Given the description of an element on the screen output the (x, y) to click on. 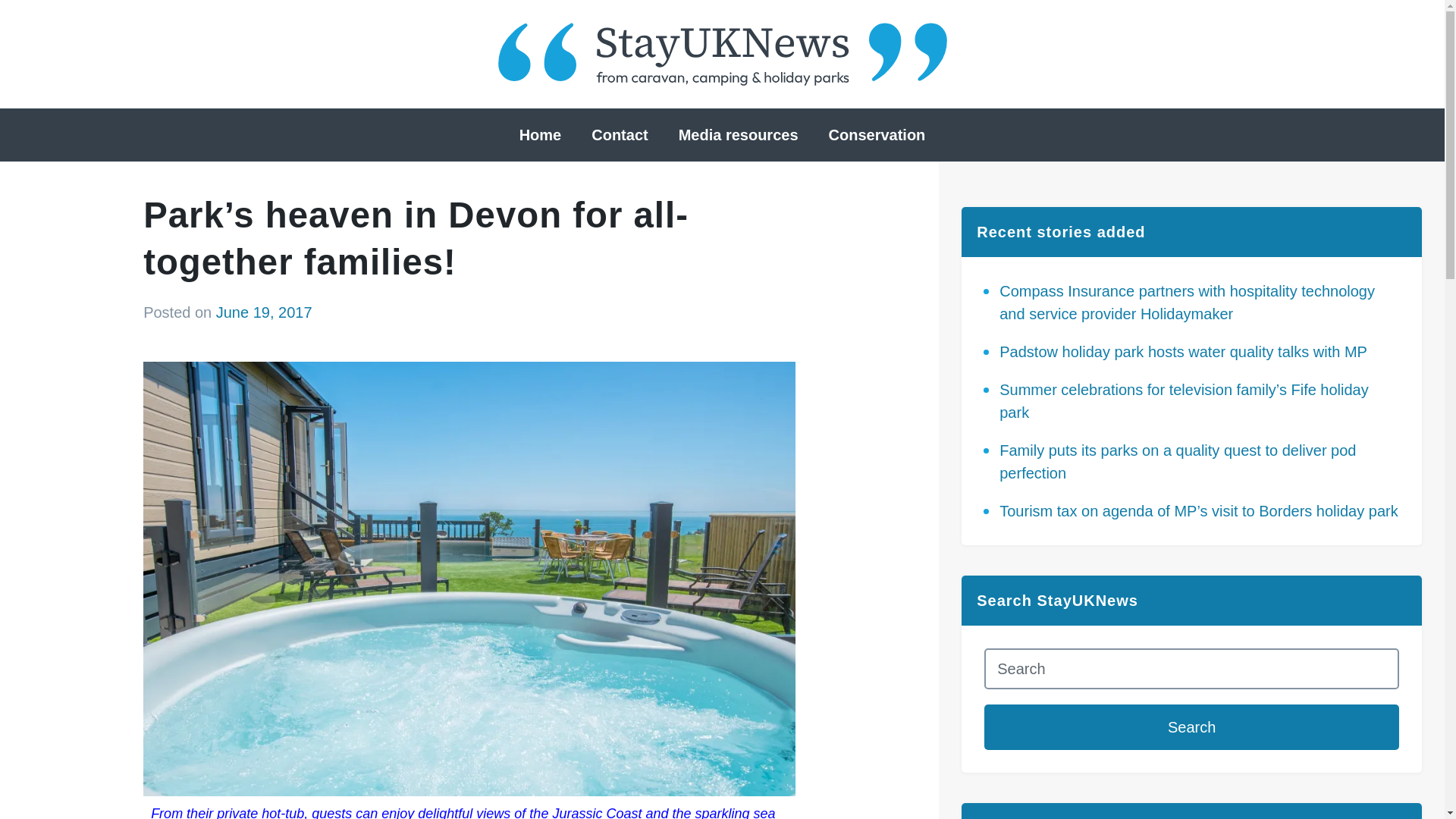
Search (1191, 727)
Home (539, 135)
Search (1191, 727)
Contact (619, 135)
Conservation (876, 135)
Media resources (738, 135)
StayUKNews.co.uk (722, 53)
June 19, 2017 (264, 312)
